Given the description of an element on the screen output the (x, y) to click on. 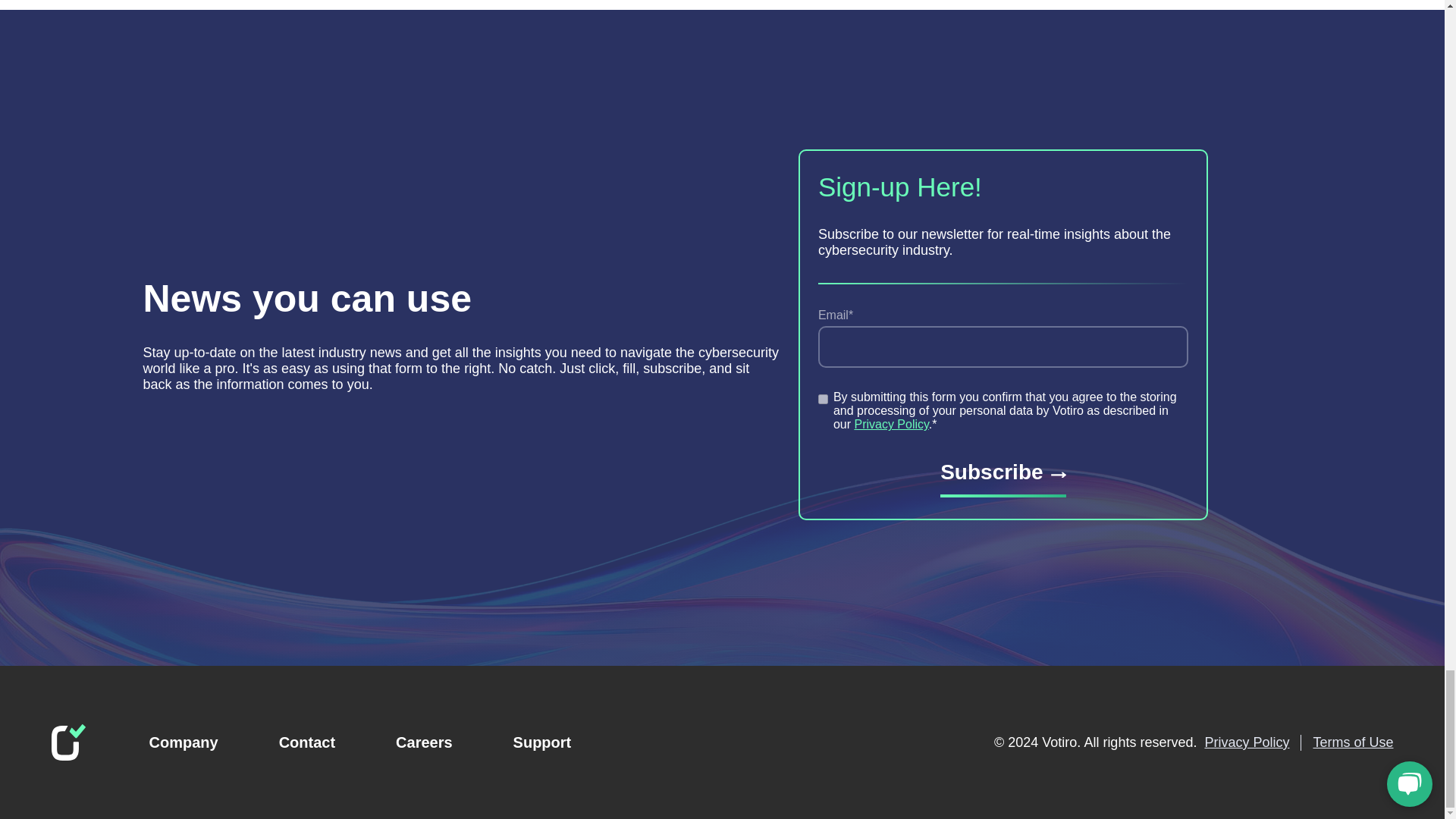
Subscribe (1002, 478)
true (823, 398)
